Given the description of an element on the screen output the (x, y) to click on. 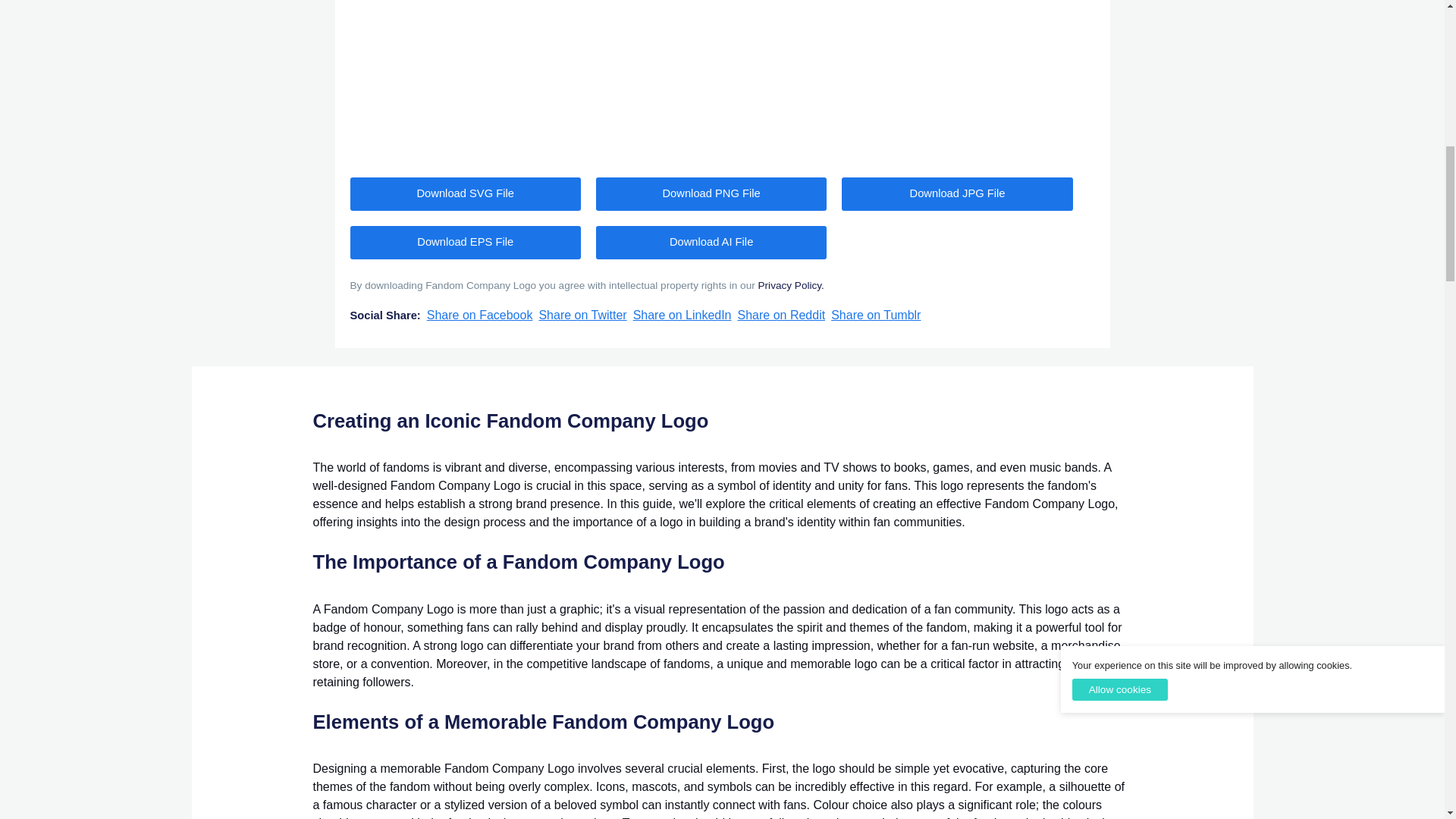
Download Fandom Company Logo in AI File format (711, 242)
Download Fandom Company Logo in EPS File format (465, 242)
Download Fandom Company Logo in JPG format (956, 193)
Download Fandom Company Logo in SVG format (465, 193)
Download Fandom Company Logo in PNG format (711, 193)
Advertisement (722, 79)
